Given the description of an element on the screen output the (x, y) to click on. 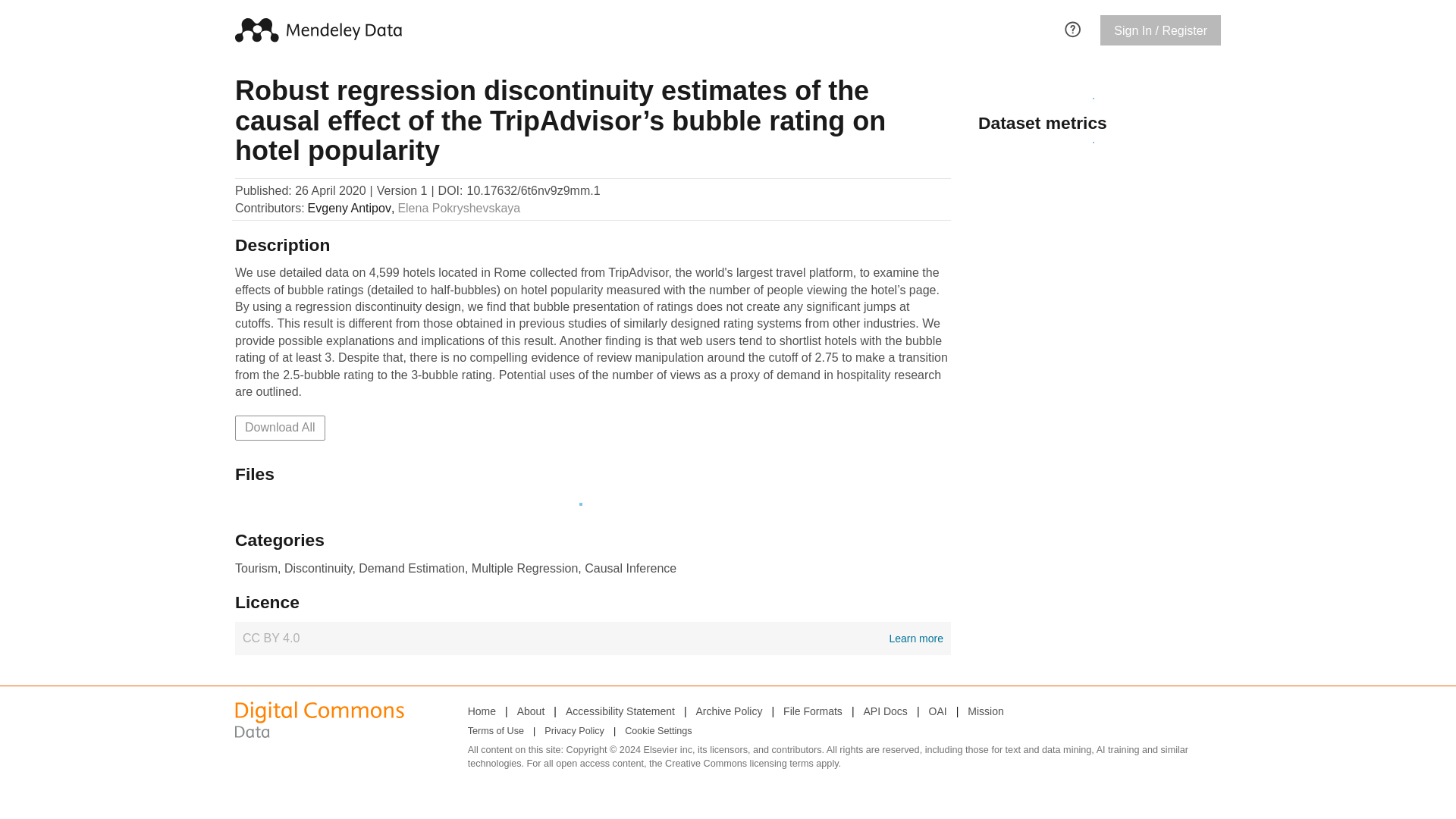
FAQ (1072, 27)
File Formats (813, 656)
Privacy Policy (574, 676)
About (530, 656)
Archive Policy (728, 656)
Elena Pokryshevskaya (458, 208)
Mission (592, 583)
API Docs (985, 656)
Terms of Use (885, 656)
